Given the description of an element on the screen output the (x, y) to click on. 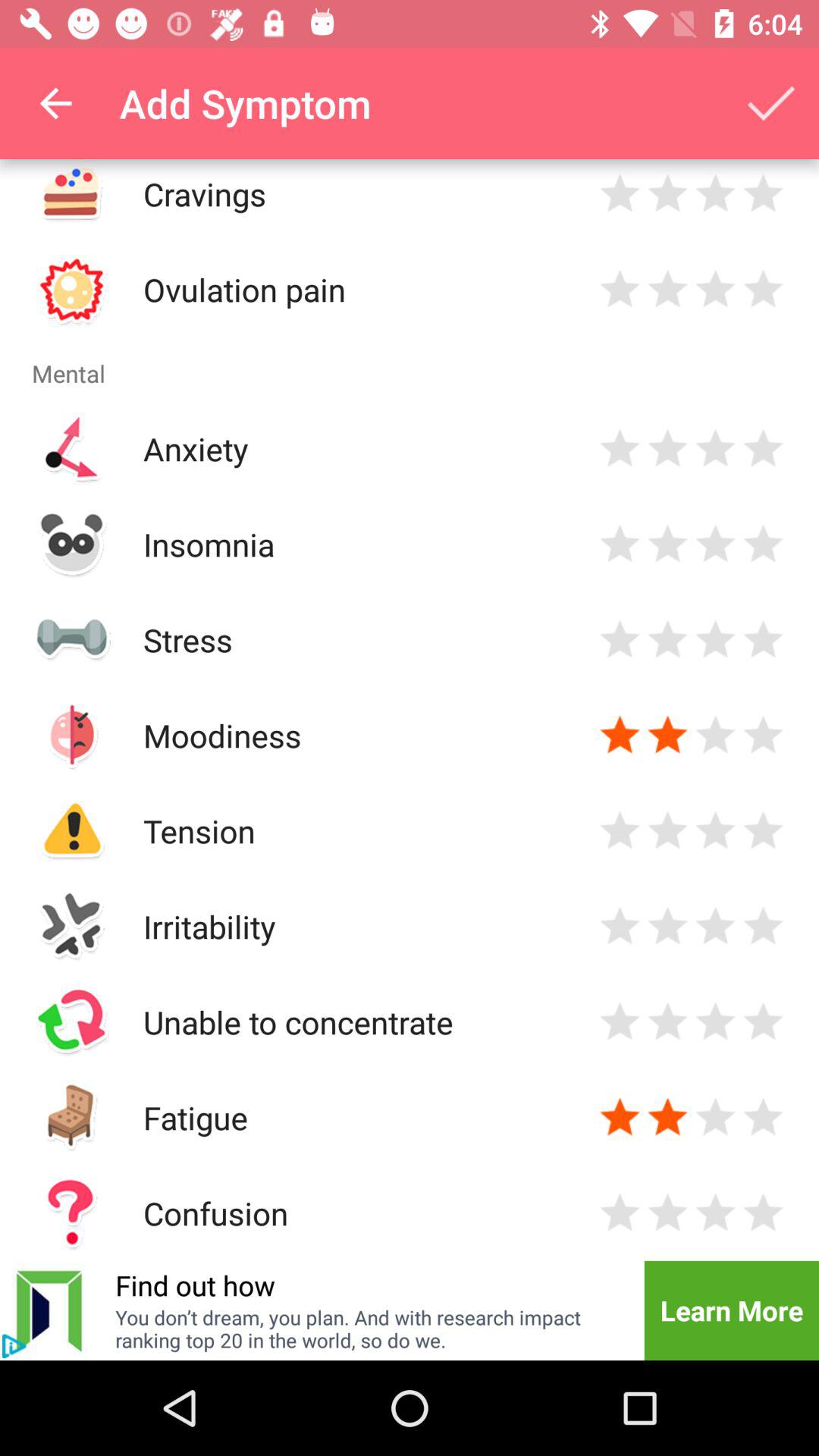
click the star (667, 193)
